Given the description of an element on the screen output the (x, y) to click on. 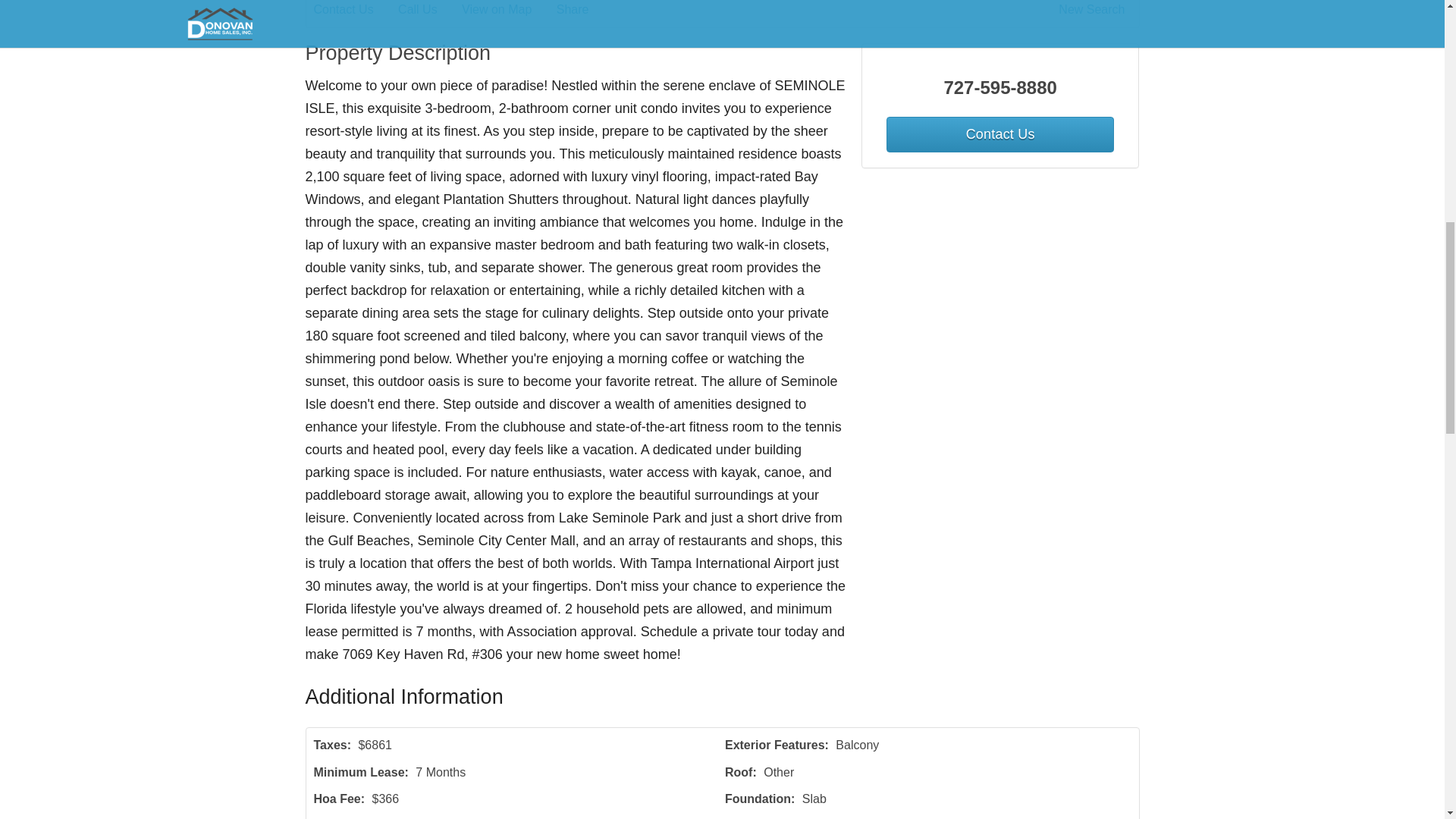
727-595-8880 (1000, 87)
Share (583, 10)
View on Map (507, 10)
New Search (1094, 10)
Contact Us (999, 134)
Contact Us (354, 10)
Call Us (427, 10)
